Given the description of an element on the screen output the (x, y) to click on. 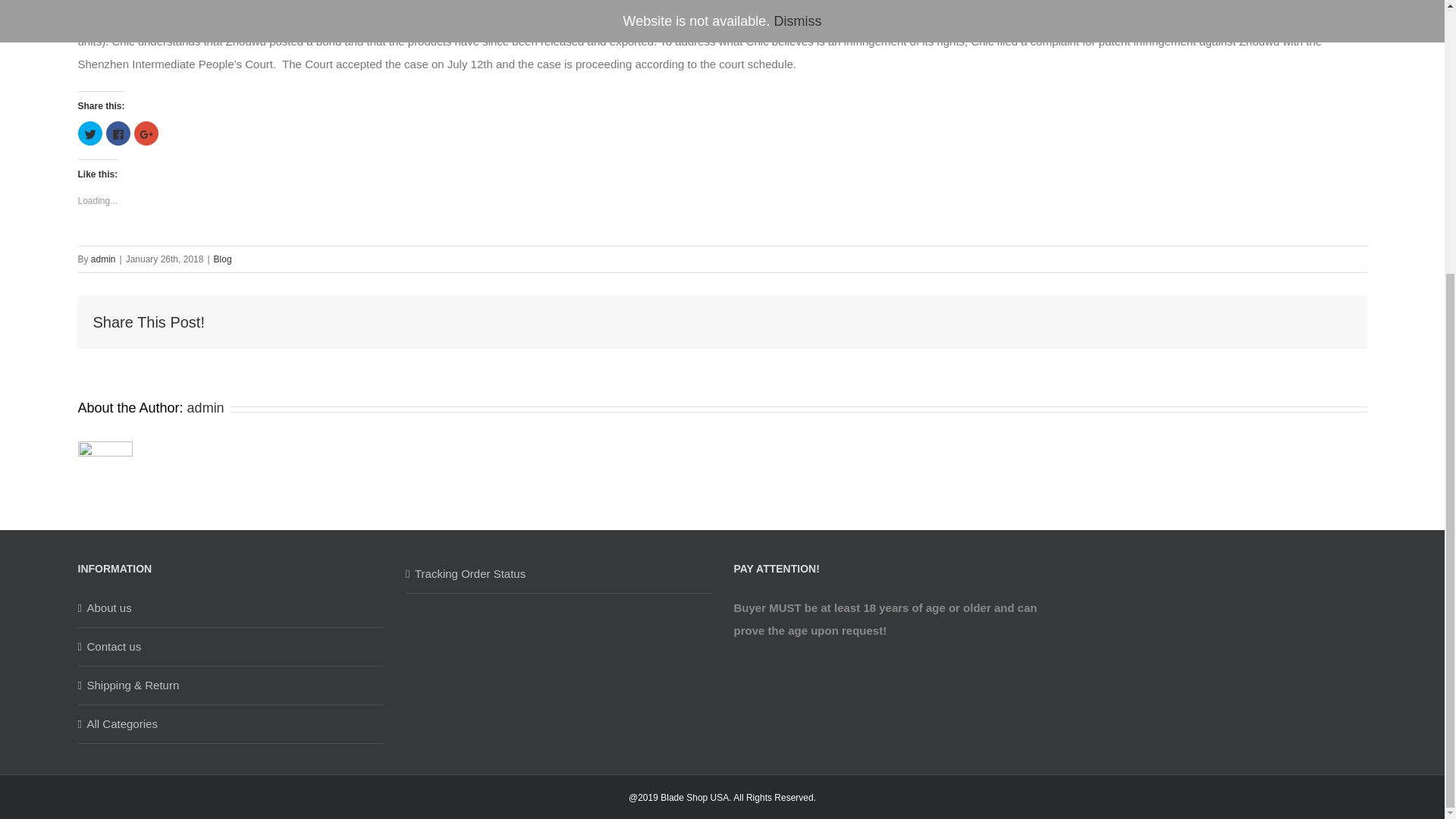
Posts by admin (103, 258)
Click to share on Twitter (89, 133)
Posts by admin (205, 407)
Click to share on Facebook (118, 133)
